Given the description of an element on the screen output the (x, y) to click on. 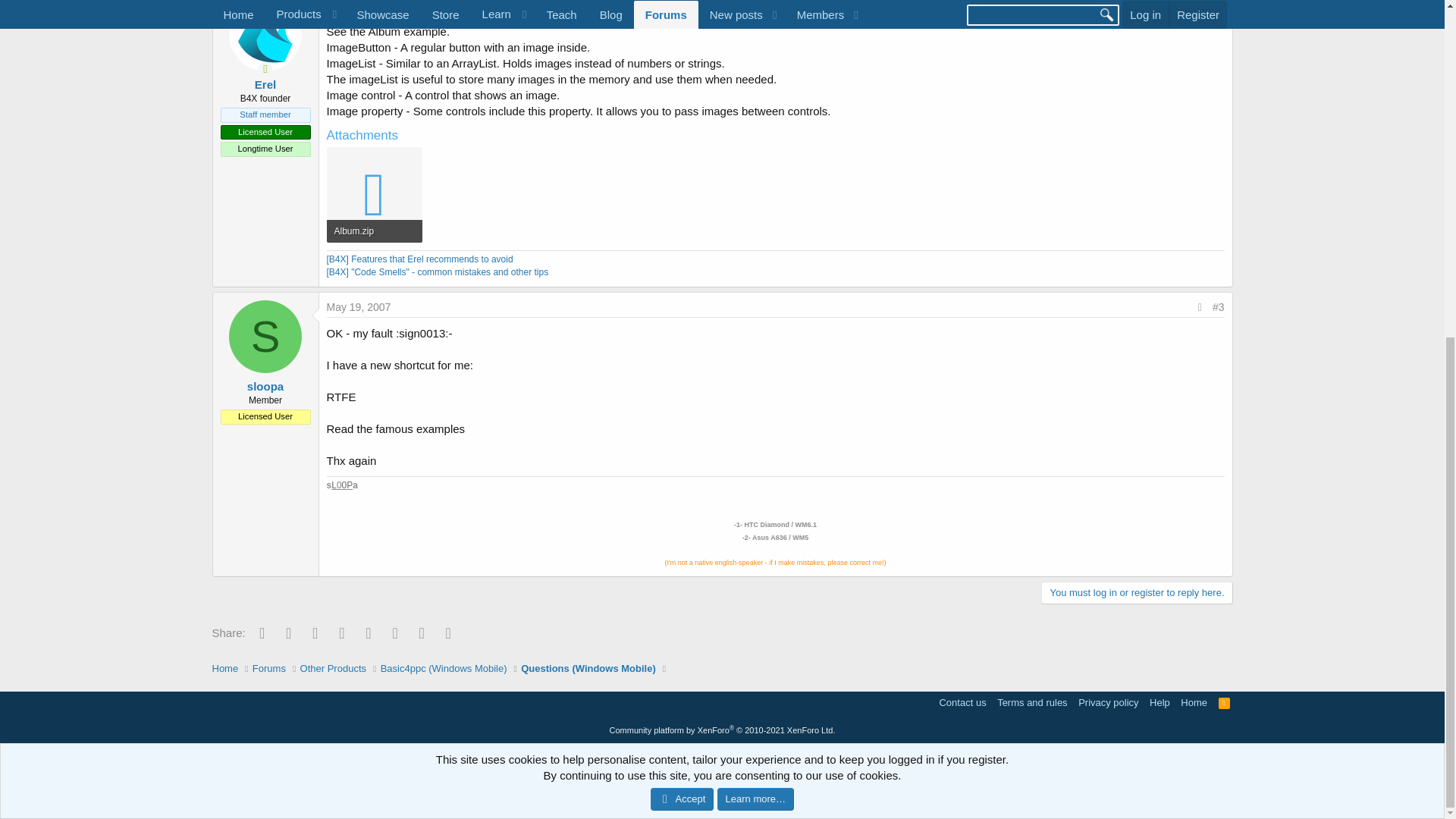
RSS (1224, 702)
Album.zip (373, 231)
May 19, 2007 at 5:00 PM (358, 306)
May 19, 2007 at 2:34 PM (358, 5)
